Given the description of an element on the screen output the (x, y) to click on. 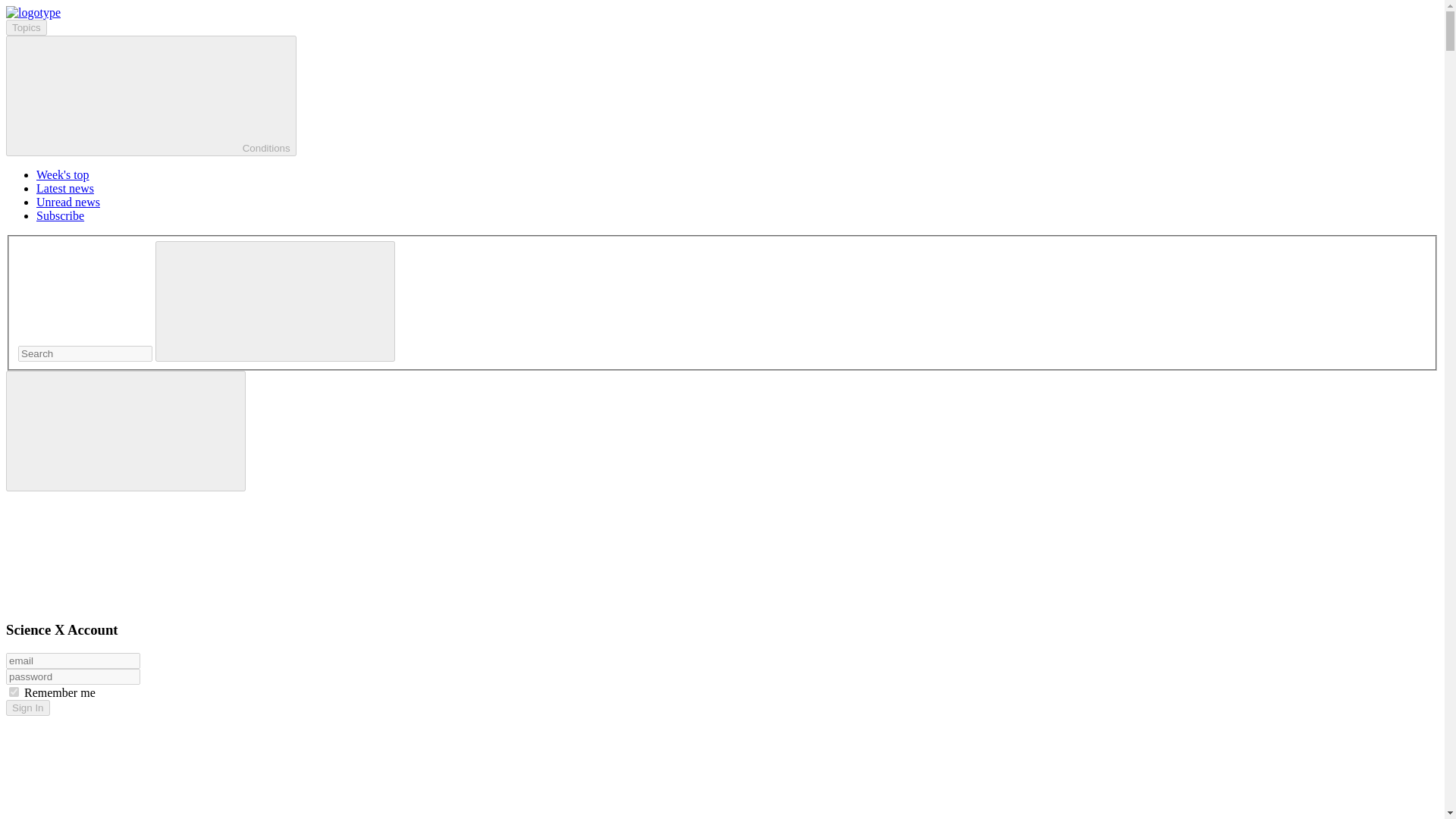
on (13, 691)
Sign In (27, 707)
Subscribe (60, 215)
Unread news (68, 201)
Topics (25, 27)
Latest news (65, 187)
Conditions (151, 96)
Week's top (62, 174)
